Given the description of an element on the screen output the (x, y) to click on. 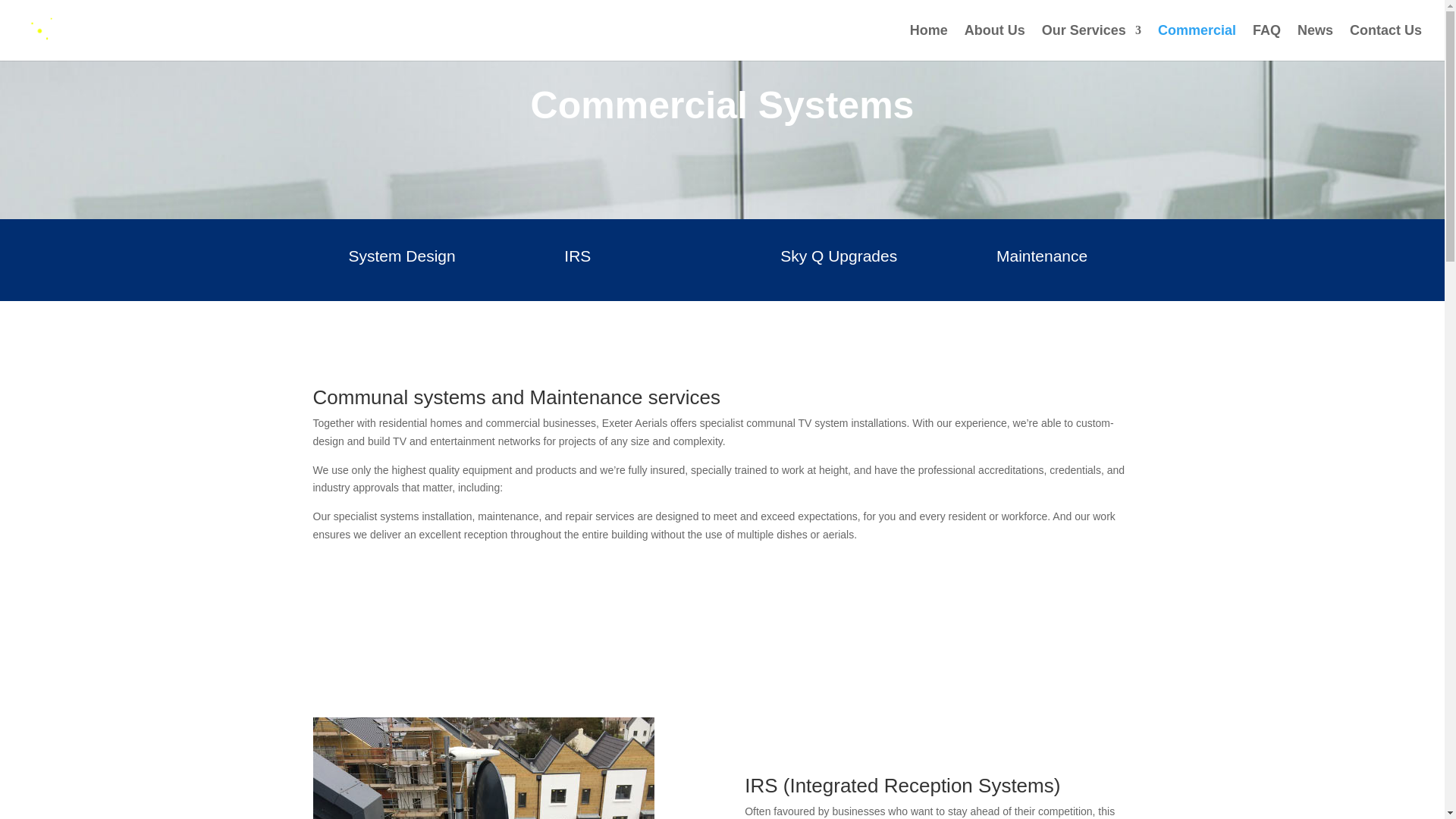
Contact Us (1385, 42)
Our Services (1091, 42)
Home (928, 42)
Commercial (1196, 42)
Commercial-Rig (483, 768)
News (1315, 42)
About Us (994, 42)
